Given the description of an element on the screen output the (x, y) to click on. 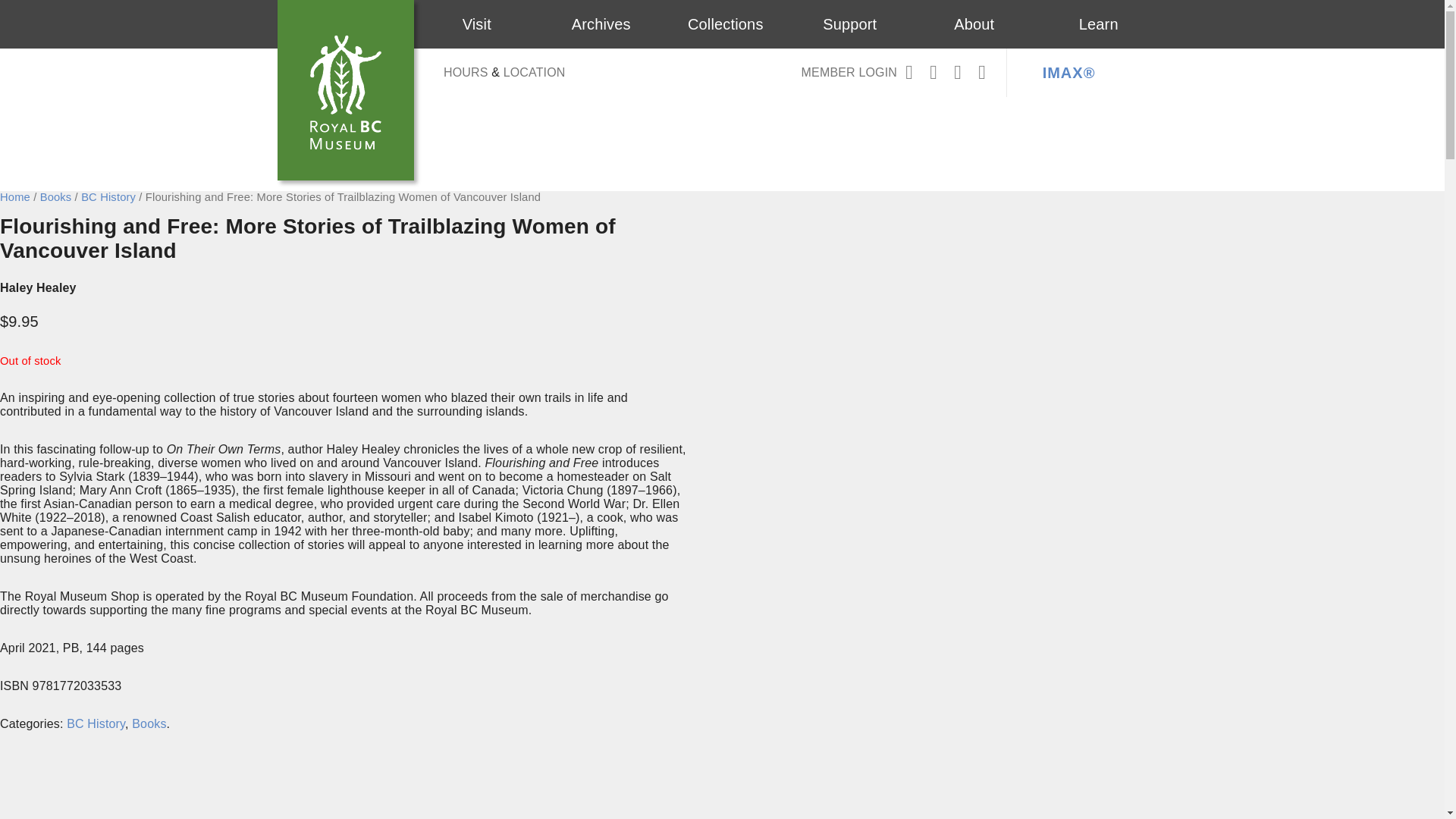
Home (15, 196)
Visit (477, 23)
Archives (601, 23)
About (973, 23)
Royal BC Museum Location (534, 72)
HOURS (465, 72)
Support (849, 23)
Learn (1098, 23)
LOCATION (534, 72)
MEMBER LOGIN (849, 72)
